Given the description of an element on the screen output the (x, y) to click on. 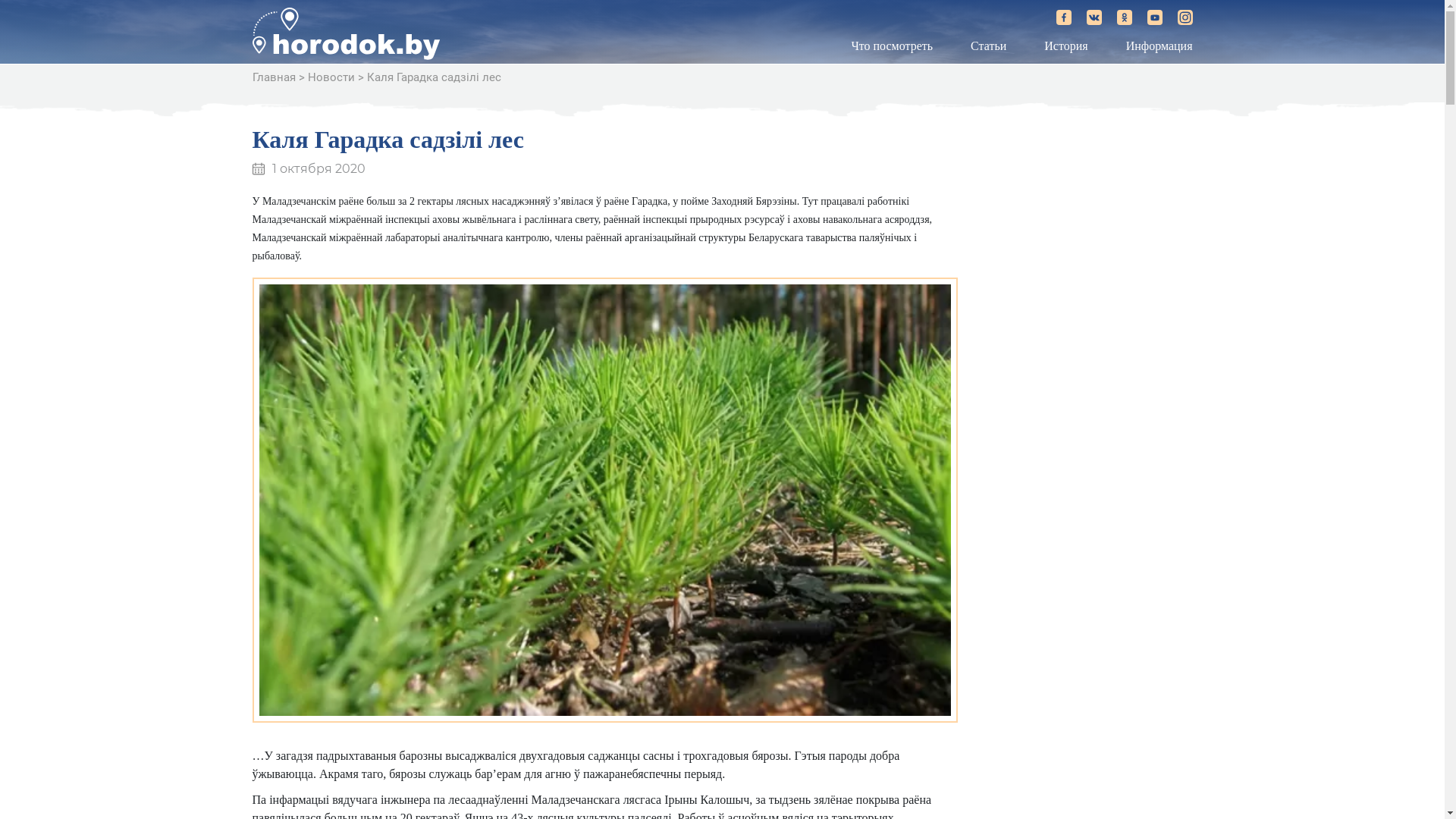
horodok.by on Vkontakte Element type: hover (1093, 17)
horodok.by on Instagram Element type: hover (1184, 17)
horodok.by on YouTube Element type: hover (1153, 17)
horodok.by on Facebook Element type: hover (1062, 17)
